Given the description of an element on the screen output the (x, y) to click on. 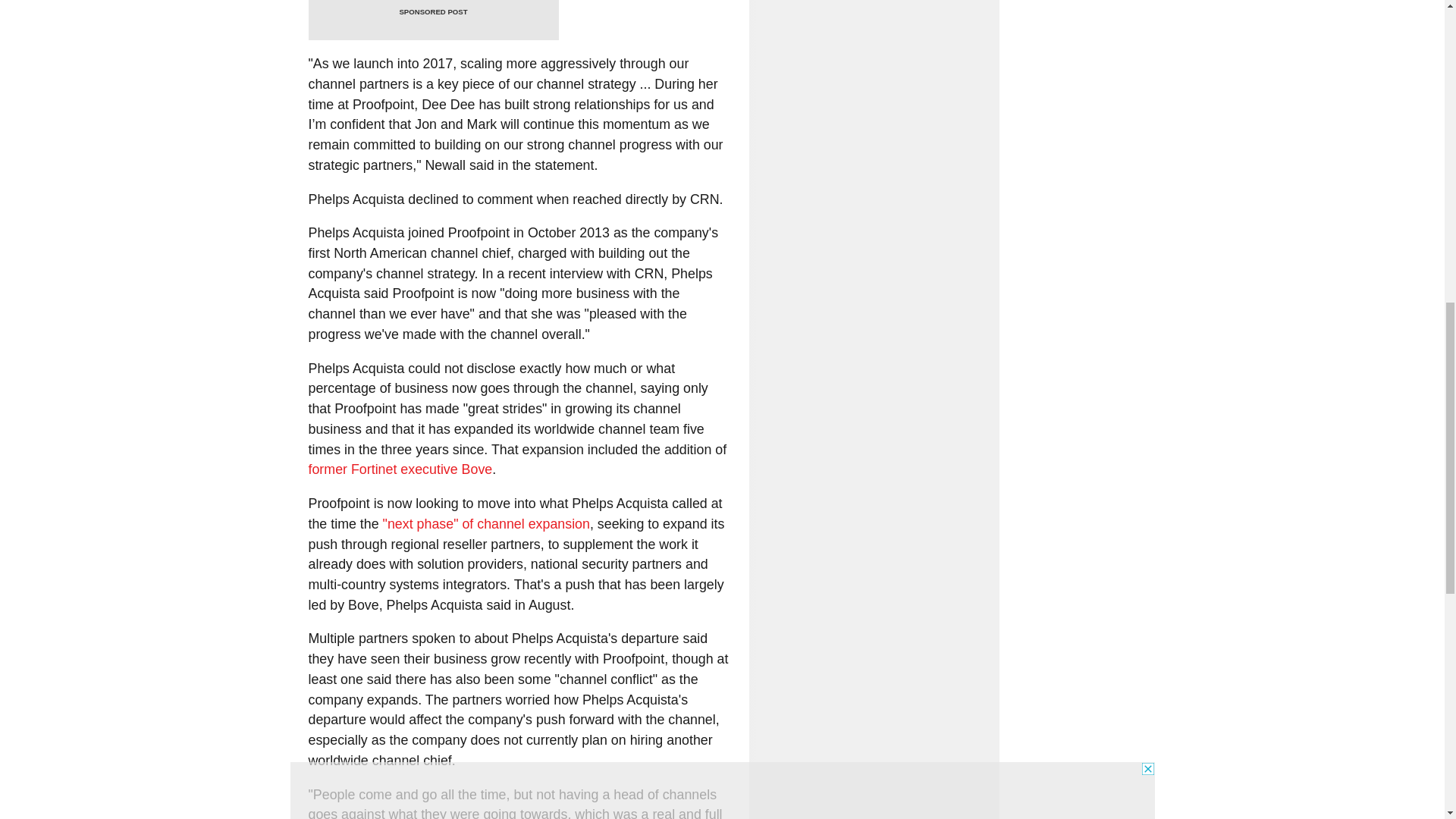
"next phase" of channel expansion (485, 523)
former Fortinet executive Bove (399, 468)
former Fortinet executive Bove (399, 468)
"next phase" of channel expansion (485, 523)
